Given the description of an element on the screen output the (x, y) to click on. 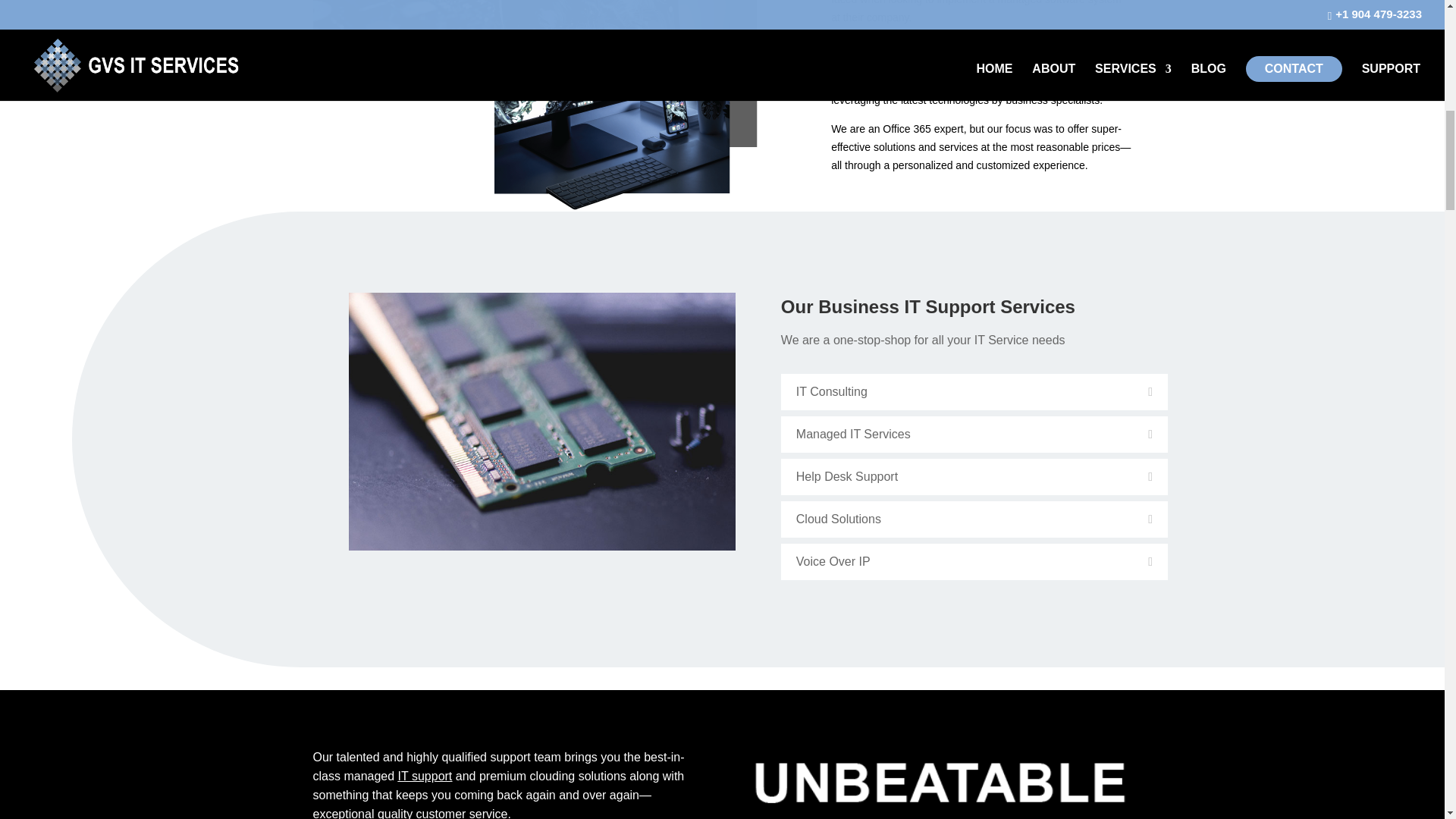
managed software system (1059, 2)
computer technology (937, 783)
internet technology (535, 105)
IT support (424, 775)
